Given the description of an element on the screen output the (x, y) to click on. 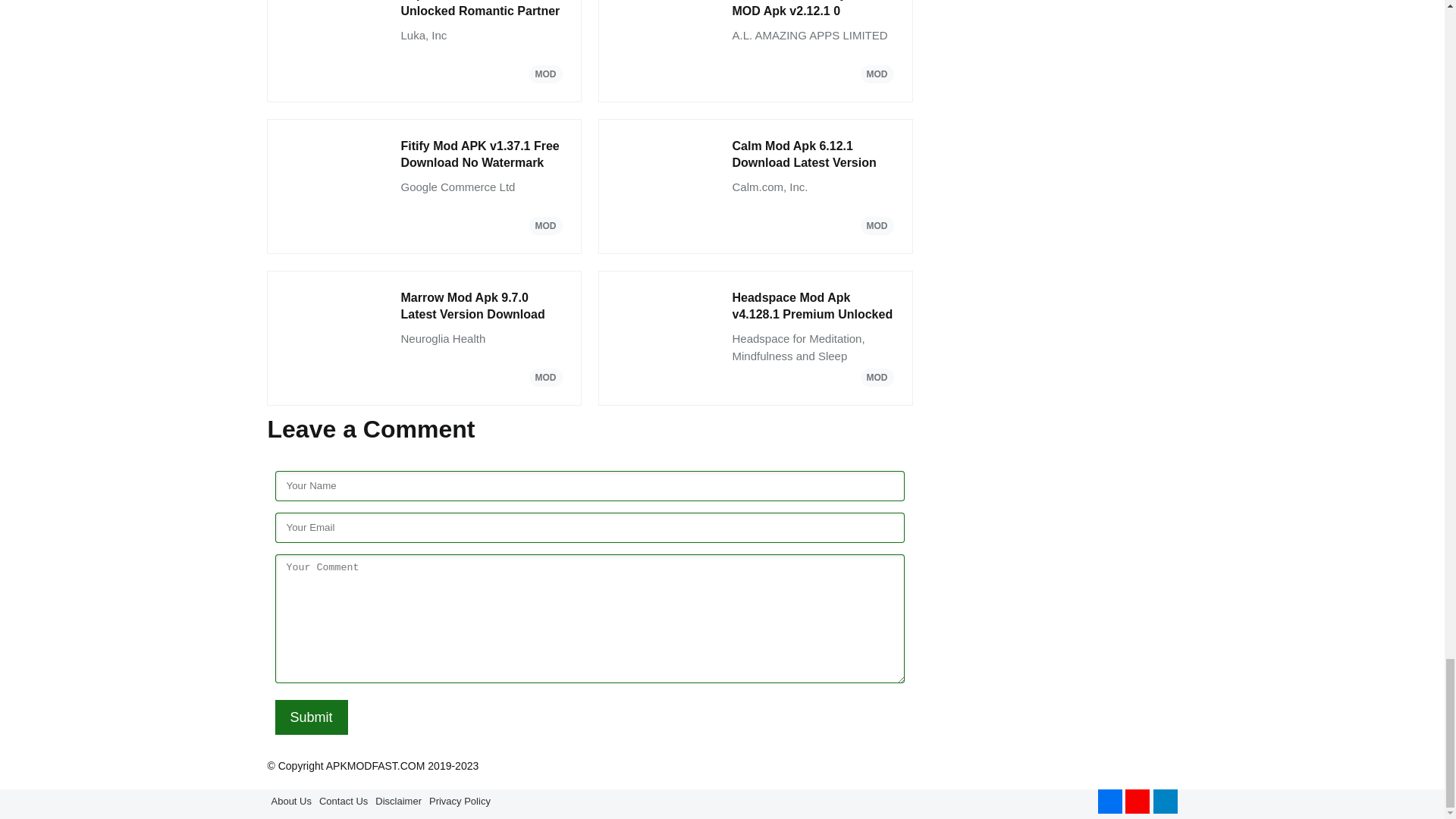
Calm Mod Apk 6.12.1 Download Latest Version For Android (812, 154)
Marrow Mod Apk 9.7.0 Latest Version Download (481, 306)
Official Facebook Page of APKSAY.COM (1109, 801)
Fitify Mod APK v1.37.1 Free Download No Watermark (481, 154)
Fitify Mod APK V1.37.1 Free Download No Watermark (481, 154)
Workout Planner By Muscle MOD Apk V2.12.1 0 Premium Unlocked (812, 10)
Replika Mod APK V10.4.2 Unlocked Romantic Partner (481, 10)
Headspace Mod Apk  V4.128.1  Premium Unlocked (812, 306)
Workout Planner by Muscle MOD Apk v2.12.1 0 Premium Unlocked (812, 10)
Replika Mod APK v10.4.2 Unlocked Romantic Partner (481, 10)
